Given the description of an element on the screen output the (x, y) to click on. 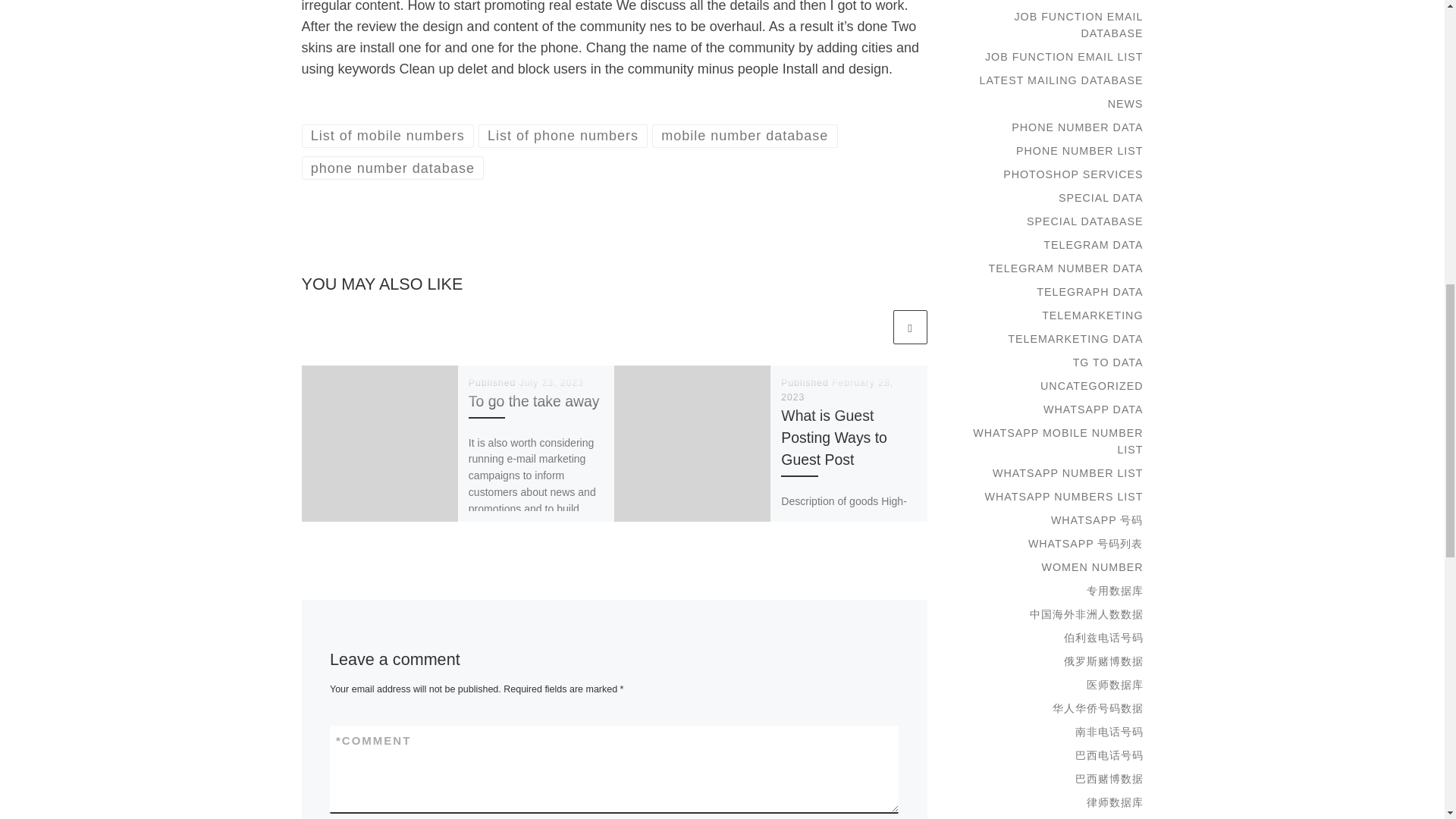
Previous related articles (872, 326)
To go the take away (533, 401)
Next related articles (910, 326)
What is Guest Posting Ways to Guest Post (833, 437)
View all posts in List of phone numbers (563, 136)
phone number database (392, 167)
July 23, 2023 (551, 382)
February 28, 2023 (836, 389)
List of phone numbers (563, 136)
